Given the description of an element on the screen output the (x, y) to click on. 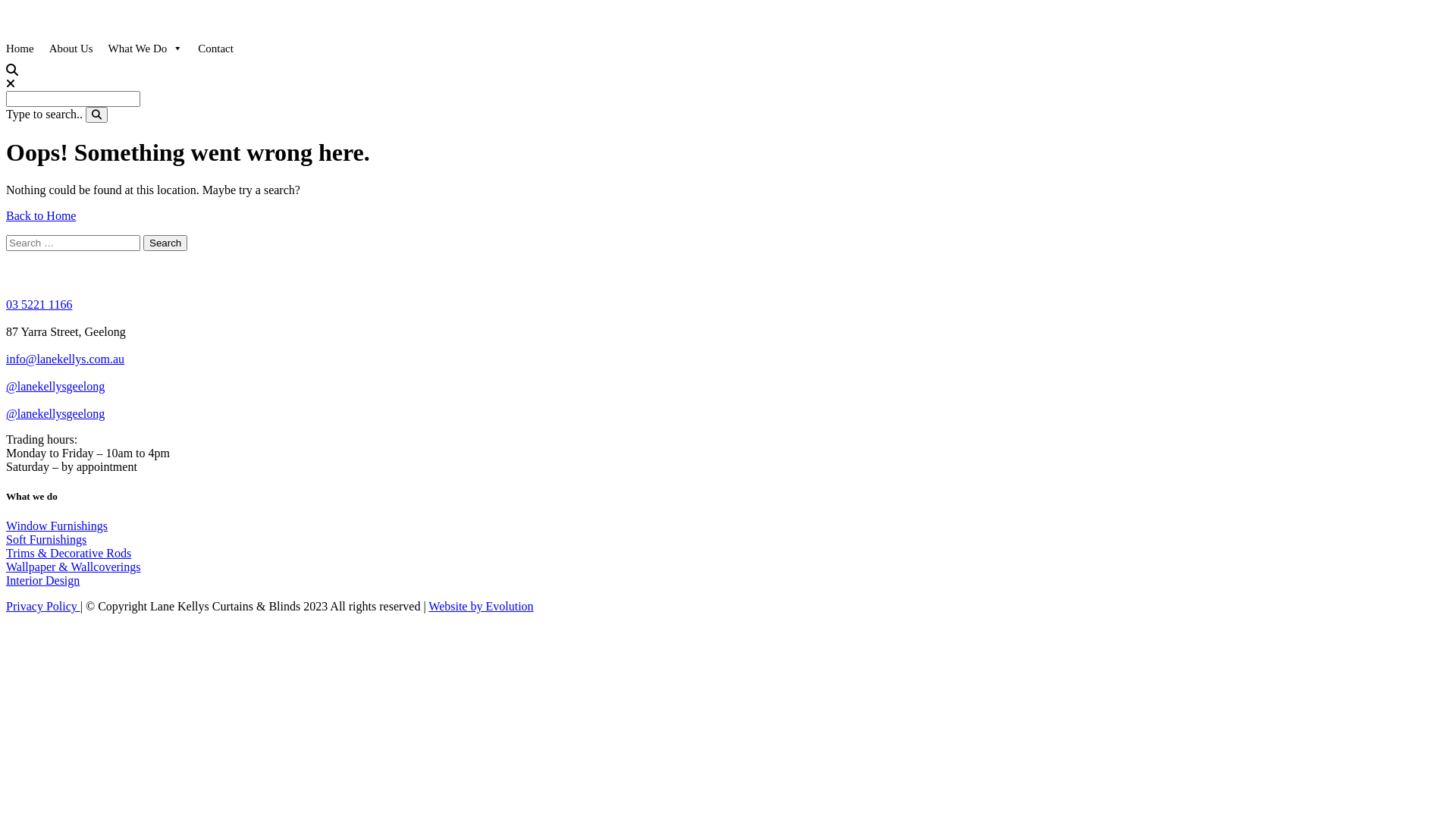
Wallpaper & Wallcoverings Element type: text (73, 566)
Home Element type: text (20, 48)
Interior Design Element type: text (42, 580)
@lanekellysgeelong Element type: text (55, 413)
What We Do Element type: text (145, 48)
Search Element type: text (165, 243)
Search for Element type: hover (73, 243)
Search for Element type: hover (73, 98)
Soft Furnishings Element type: text (46, 539)
About Us Element type: text (71, 48)
Privacy Policy Element type: text (43, 605)
Website by Evolution Element type: text (480, 605)
Trims & Decorative Rods Element type: text (68, 552)
Back to Home Element type: text (40, 215)
Contact Element type: text (215, 48)
info@lanekellys.com.au Element type: text (65, 358)
Window Furnishings Element type: text (56, 525)
@lanekellysgeelong Element type: text (55, 385)
03 5221 1166 Element type: text (39, 304)
